Given the description of an element on the screen output the (x, y) to click on. 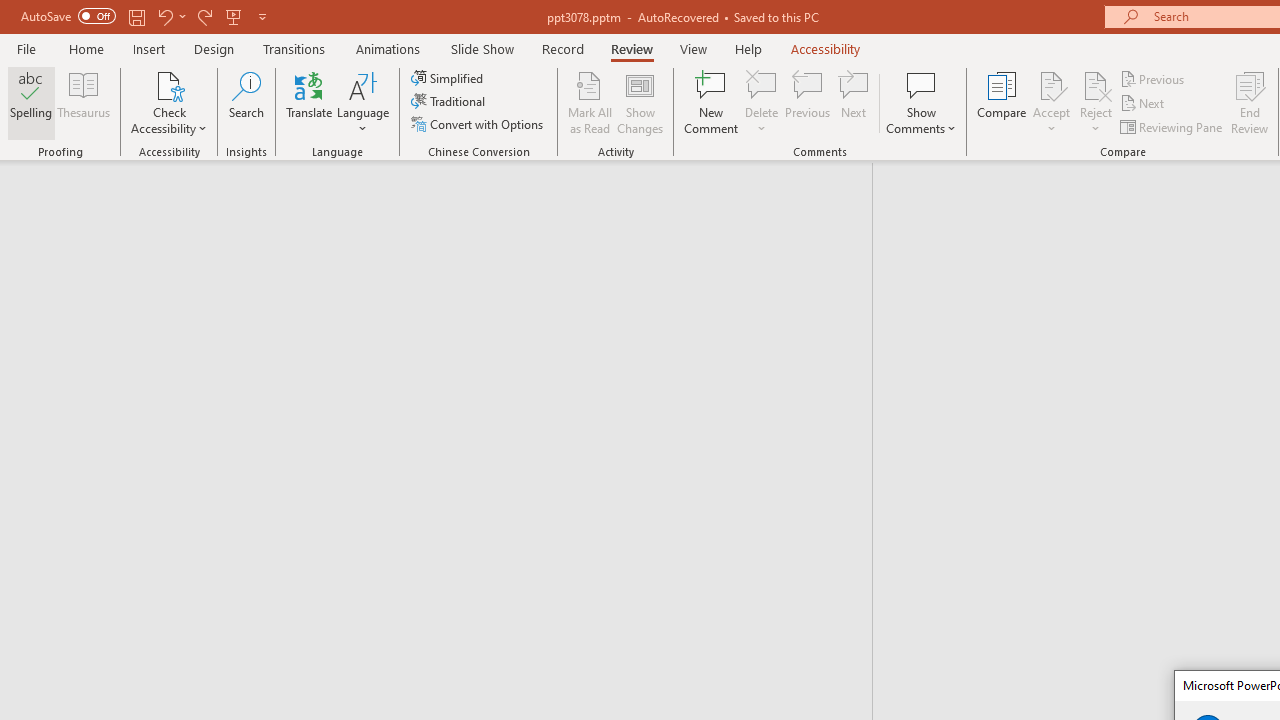
Design (214, 48)
Next (1144, 103)
Search (246, 102)
Redo (204, 15)
Save (136, 15)
Reviewing Pane (1172, 126)
From Beginning (234, 15)
Transitions (294, 48)
Outline (445, 202)
Show Comments (921, 102)
Reject Change (1096, 84)
Check Accessibility (169, 102)
